Given the description of an element on the screen output the (x, y) to click on. 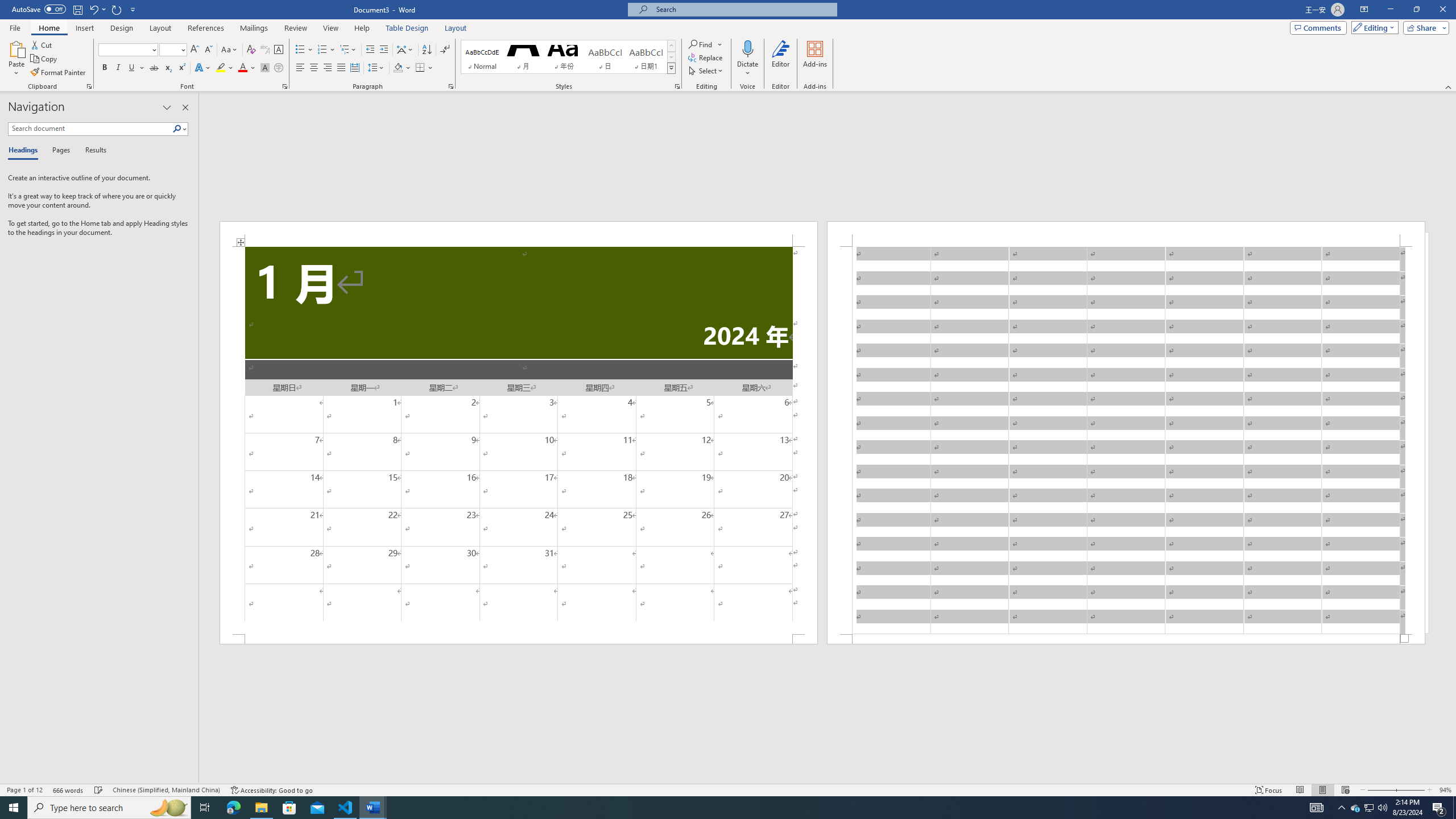
Bold (104, 67)
Class: NetUIScrollBar (827, 778)
Borders (424, 67)
Bullets (304, 49)
Zoom In (1410, 790)
Quick Access Toolbar (74, 9)
Class: MsoCommandBar (728, 789)
Underline (131, 67)
More Options (747, 68)
Italic (118, 67)
Row up (670, 45)
Numbering (322, 49)
Undo Insert Row Below (96, 9)
Page 2 content (1126, 439)
